Given the description of an element on the screen output the (x, y) to click on. 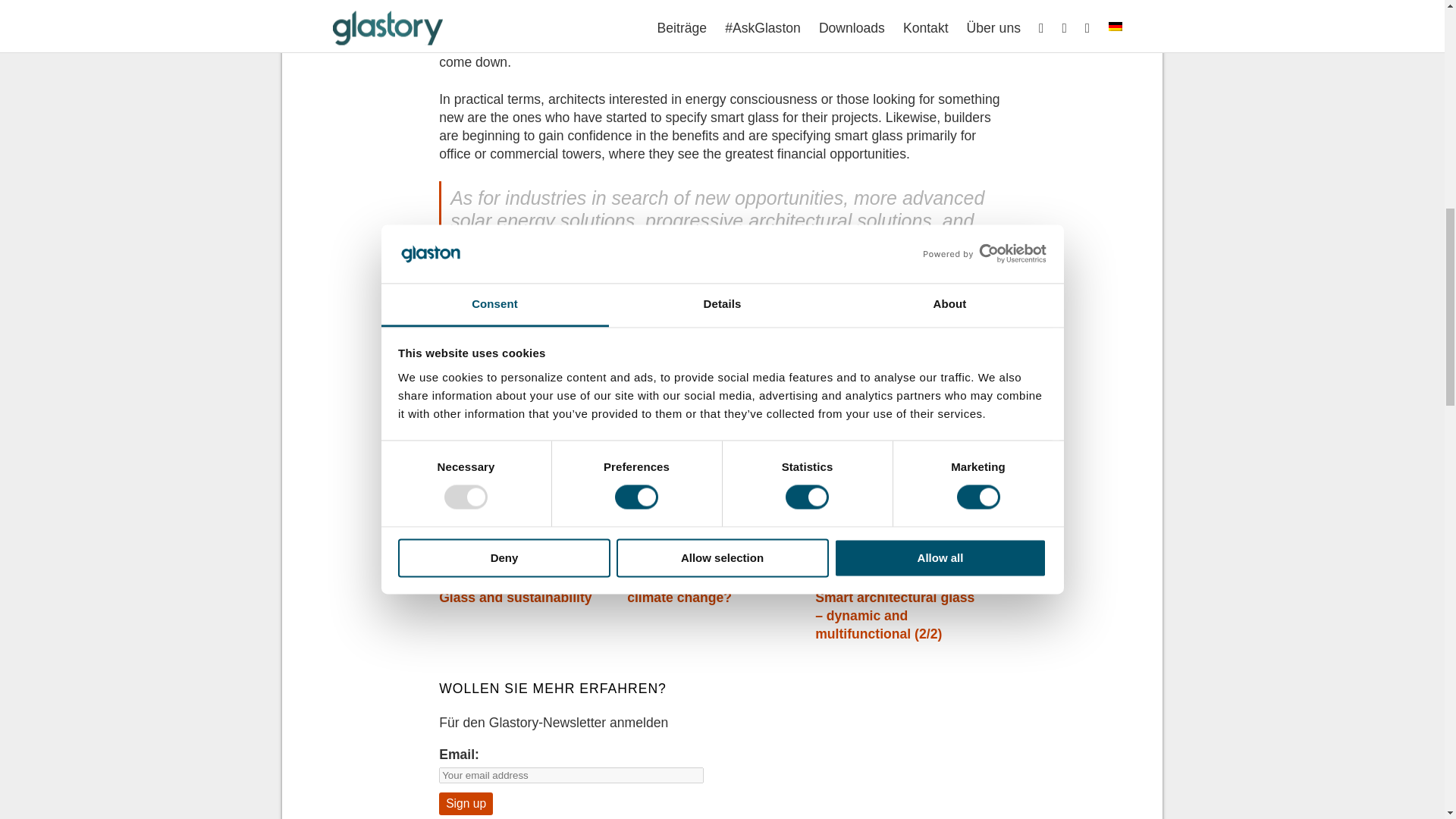
Sign up (466, 803)
Can glass help limit climate change? (689, 588)
When it comes to energy (893, 579)
